Given the description of an element on the screen output the (x, y) to click on. 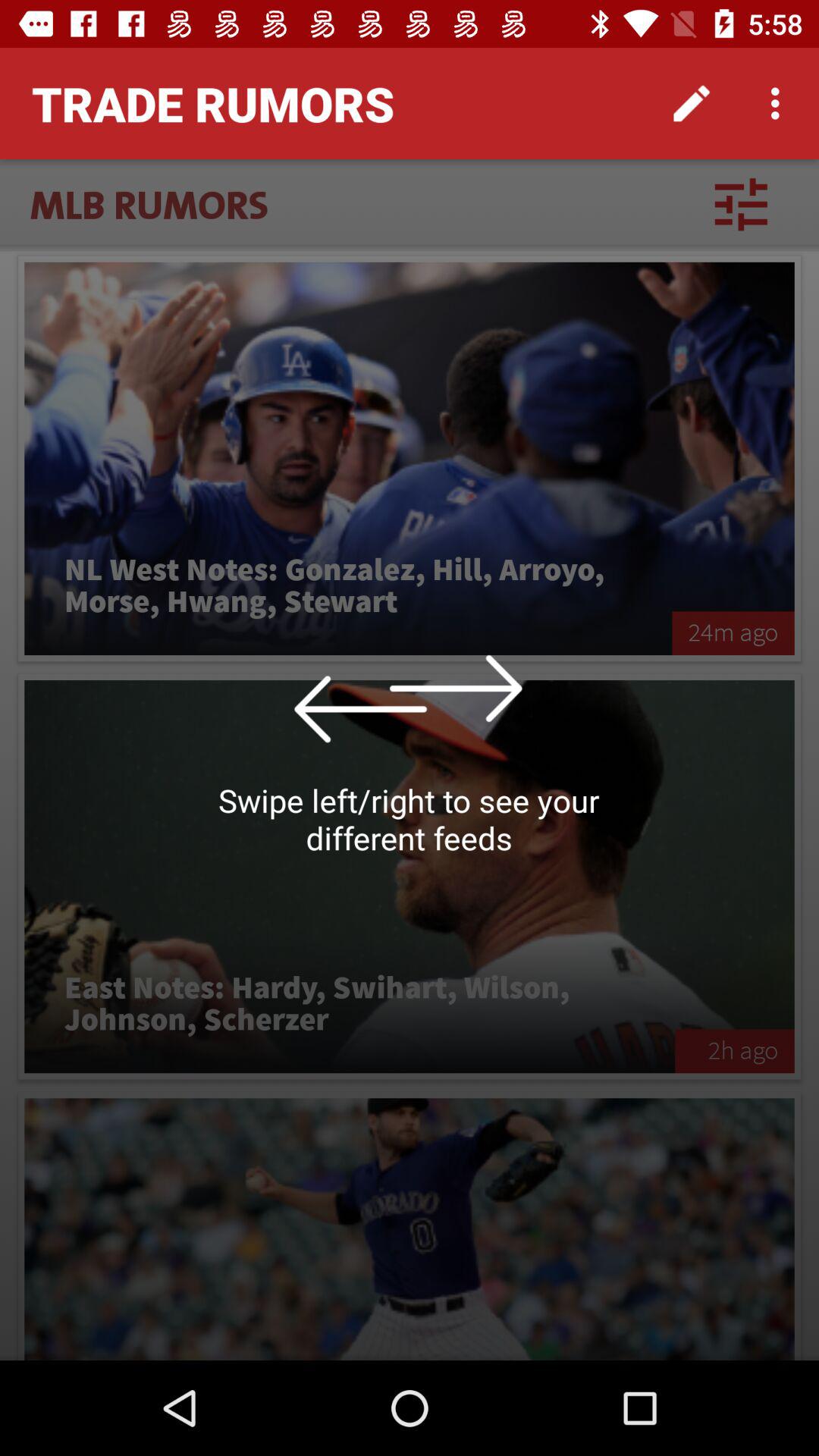
flip to nl west notes item (348, 586)
